Given the description of an element on the screen output the (x, y) to click on. 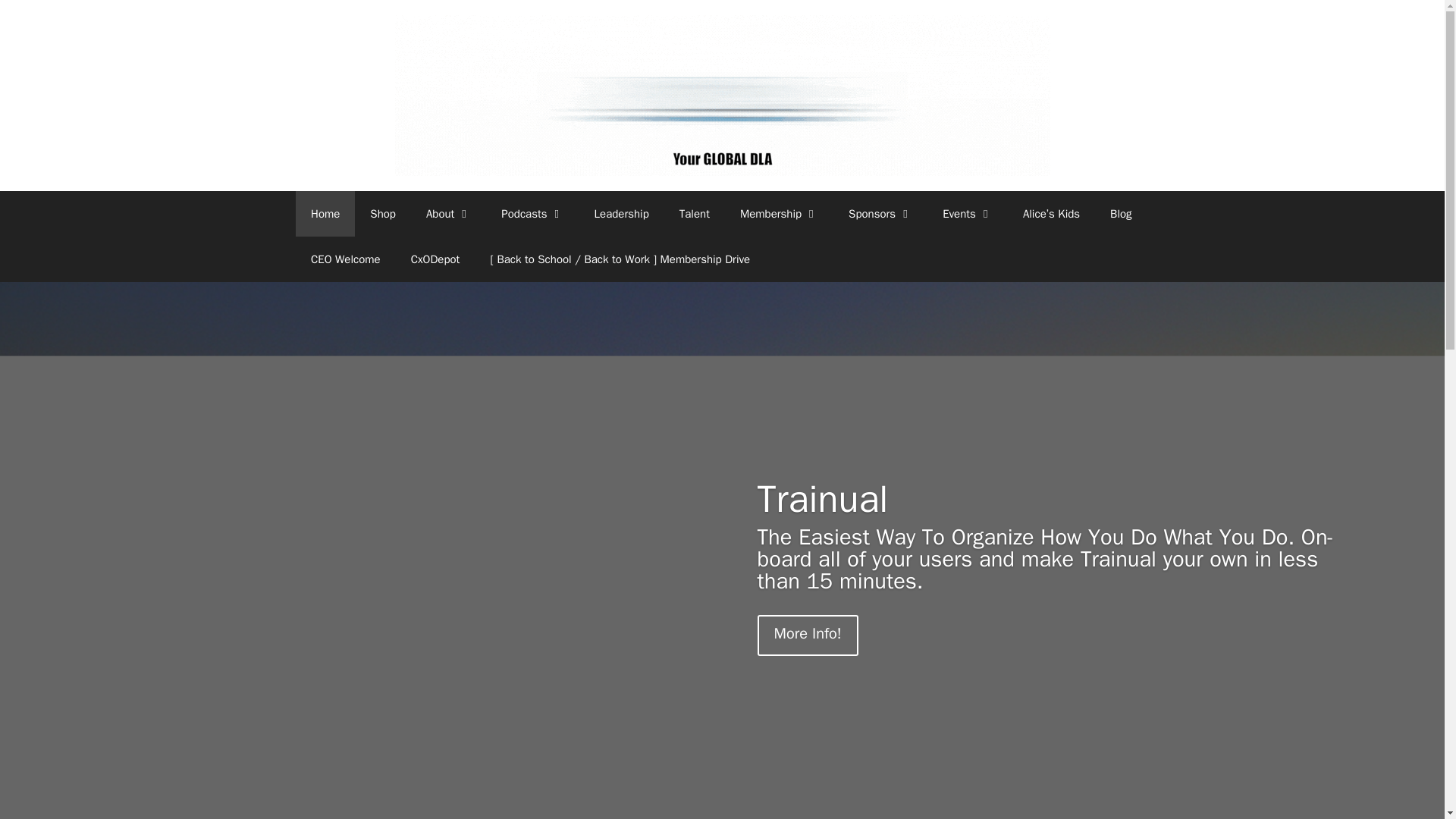
Home (325, 213)
Membership (778, 213)
Shop (382, 213)
Talent (694, 213)
Sponsors (879, 213)
CxODepot (436, 258)
CEO Welcome (345, 258)
Podcasts (532, 213)
Trainual (816, 560)
Leadership (621, 213)
About (448, 213)
Blog (1120, 213)
More Info! (801, 690)
Events (967, 213)
